Given the description of an element on the screen output the (x, y) to click on. 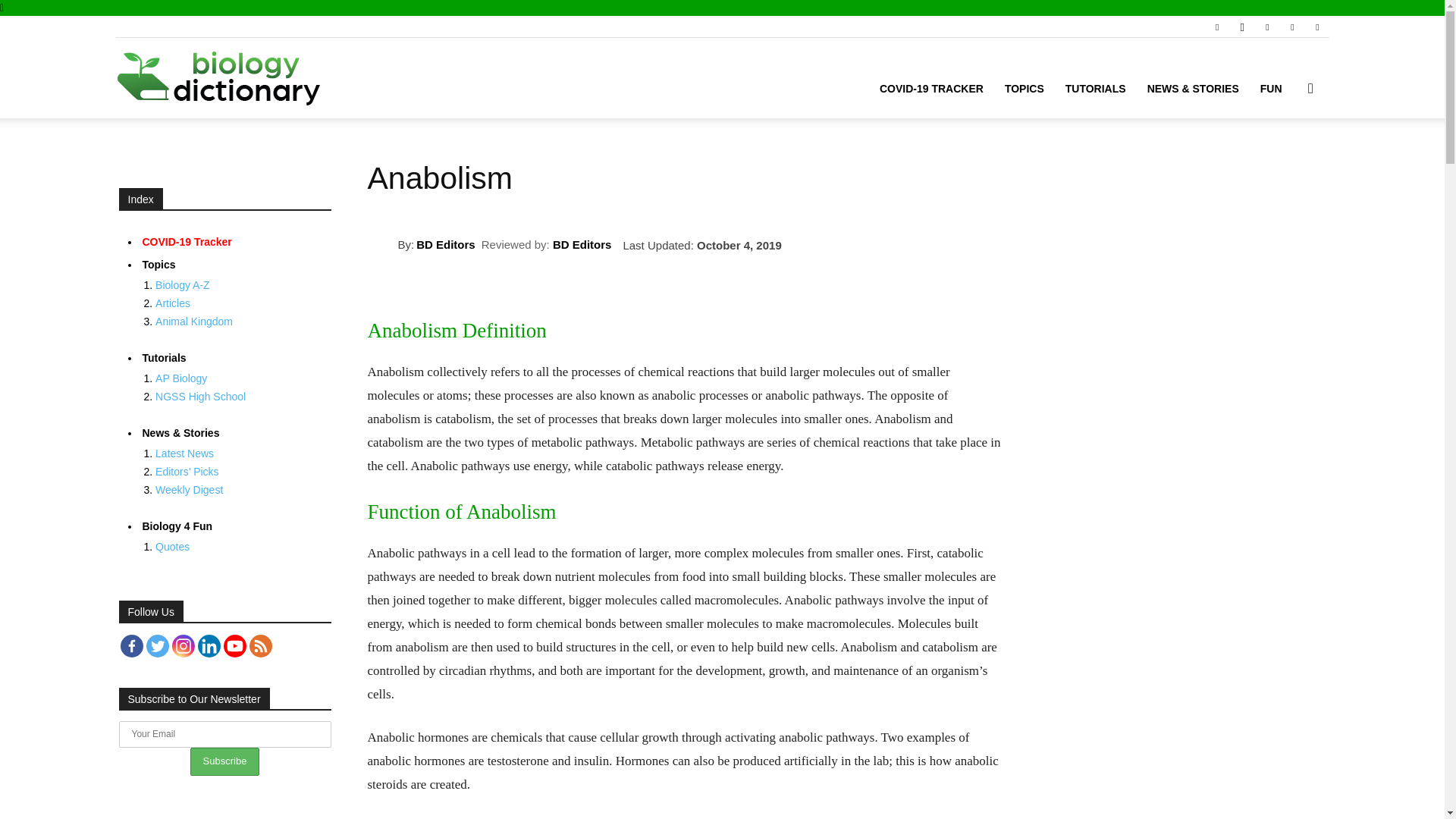
Facebook (130, 645)
Twitter (1292, 25)
Linkedin Company (207, 645)
Instagram (182, 645)
Subscribe (225, 761)
Youtube channel (234, 645)
Linkedin (1266, 25)
Youtube (1316, 25)
Biology Dictionary (218, 78)
Twitter (156, 645)
